Given the description of an element on the screen output the (x, y) to click on. 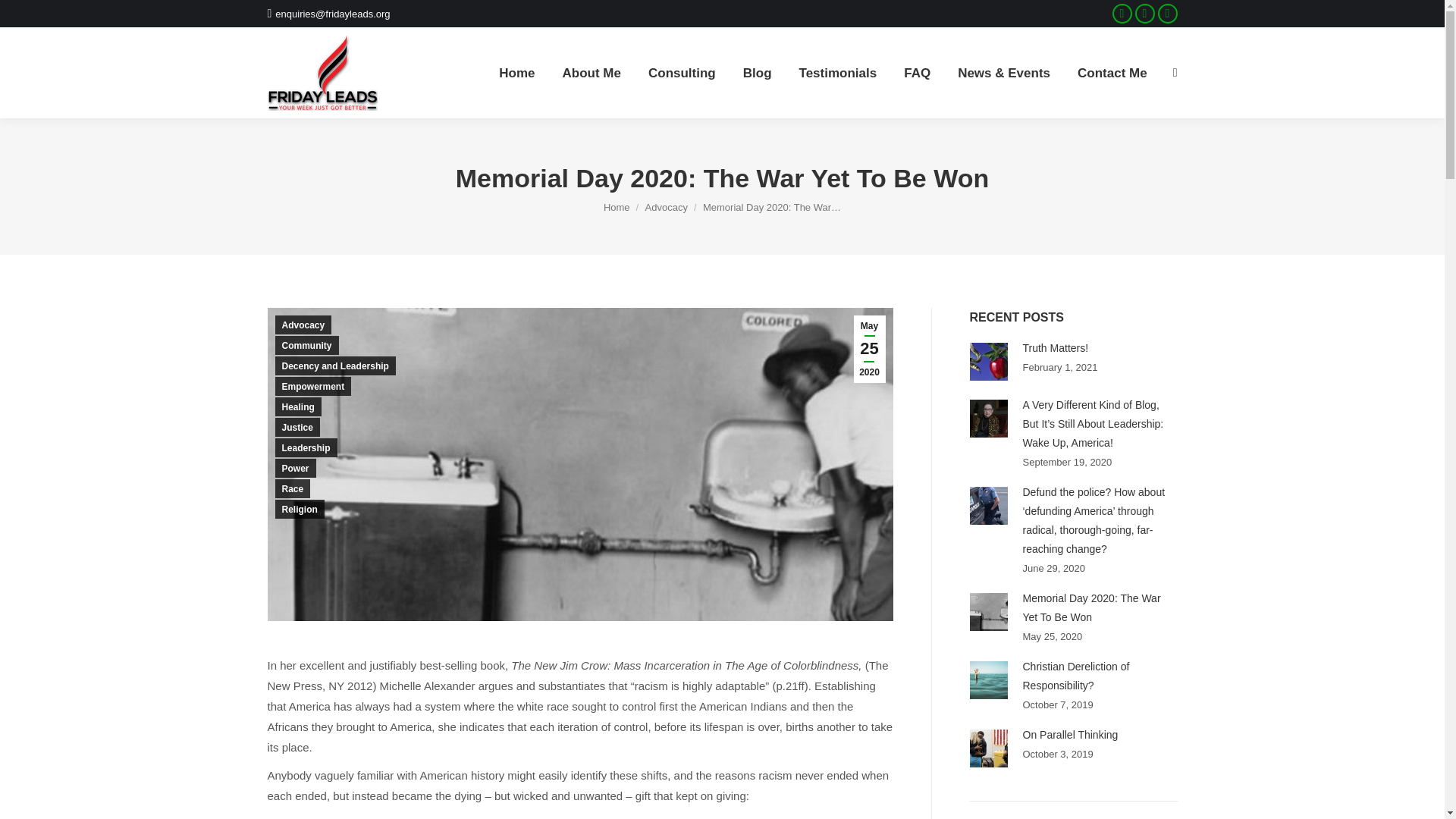
Linkedin page opens in new window (1167, 13)
Facebook page opens in new window (1122, 13)
Advocacy (666, 206)
Home (617, 206)
Twitter page opens in new window (1144, 13)
Go! (24, 15)
Testimonials (838, 72)
Facebook page opens in new window (1122, 13)
Linkedin page opens in new window (1167, 13)
